Given the description of an element on the screen output the (x, y) to click on. 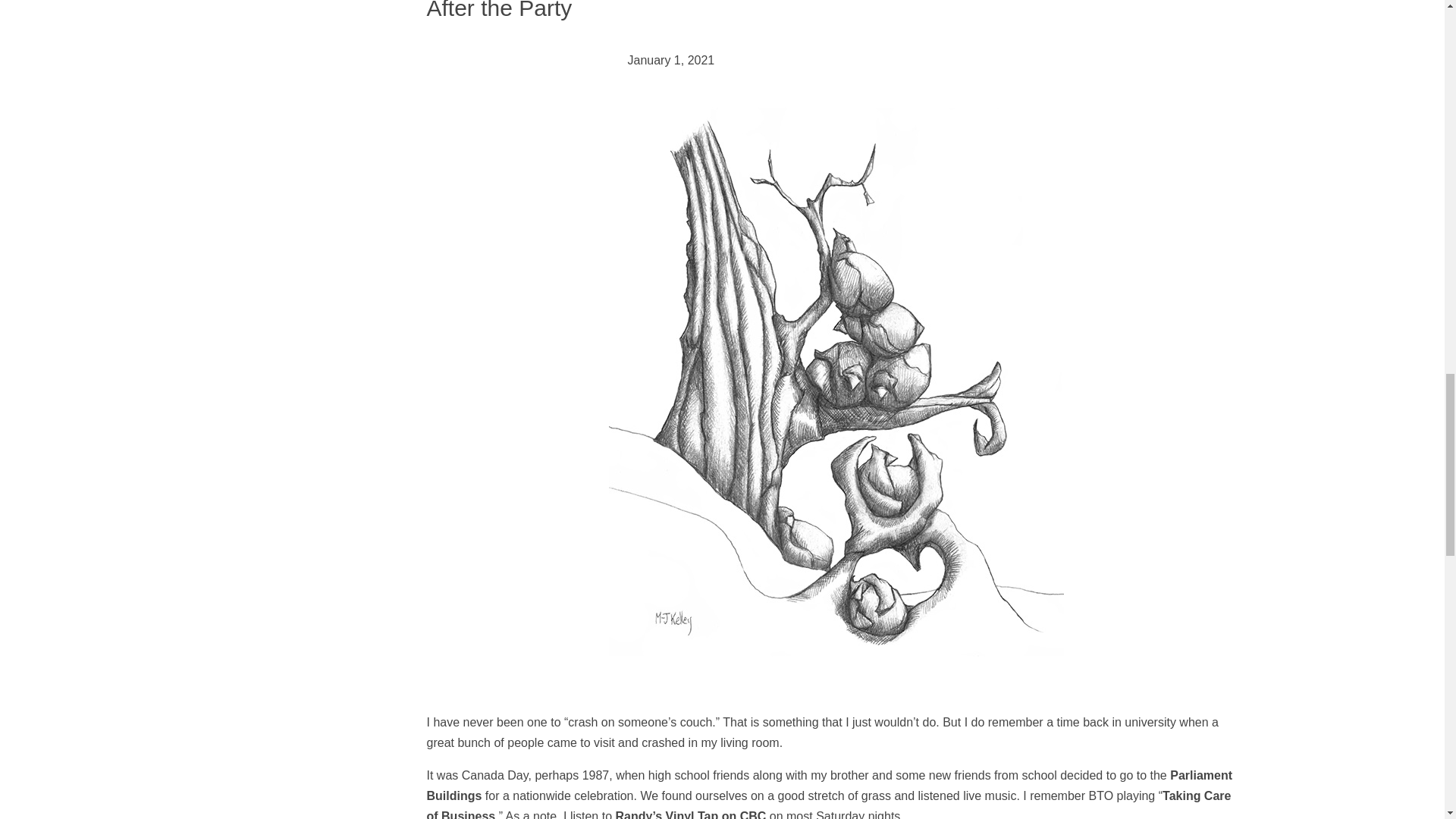
Parliament Buildings (828, 785)
Taking Care of Business (828, 804)
